Given the description of an element on the screen output the (x, y) to click on. 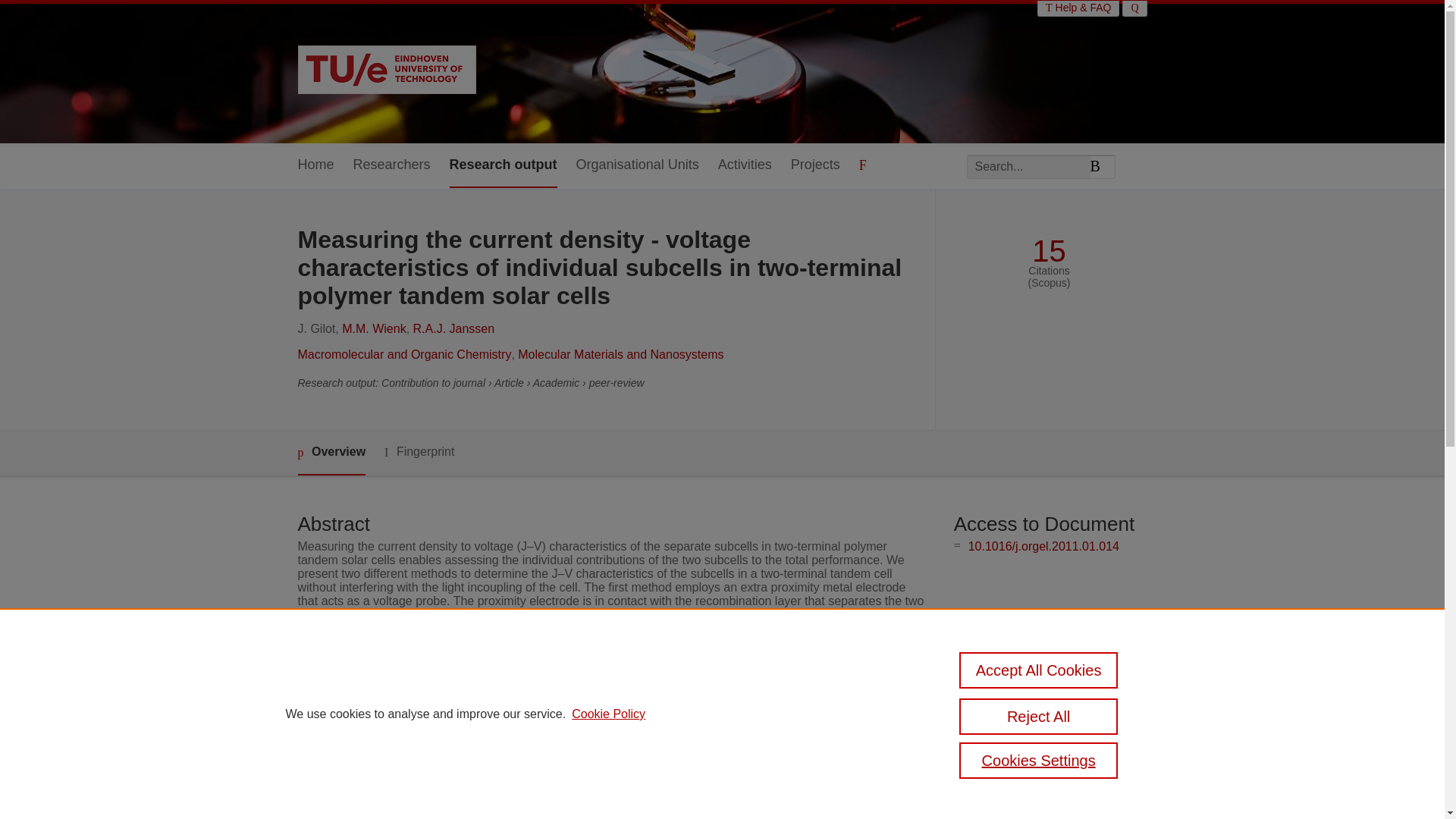
15 (1048, 251)
Molecular Materials and Nanosystems (620, 354)
Overview (331, 452)
Organisational Units (637, 165)
Eindhoven University of Technology research portal Home (386, 71)
Organic Electronics (562, 759)
M.M. Wienk (374, 328)
Projects (815, 165)
Macromolecular and Organic Chemistry (404, 354)
